Given the description of an element on the screen output the (x, y) to click on. 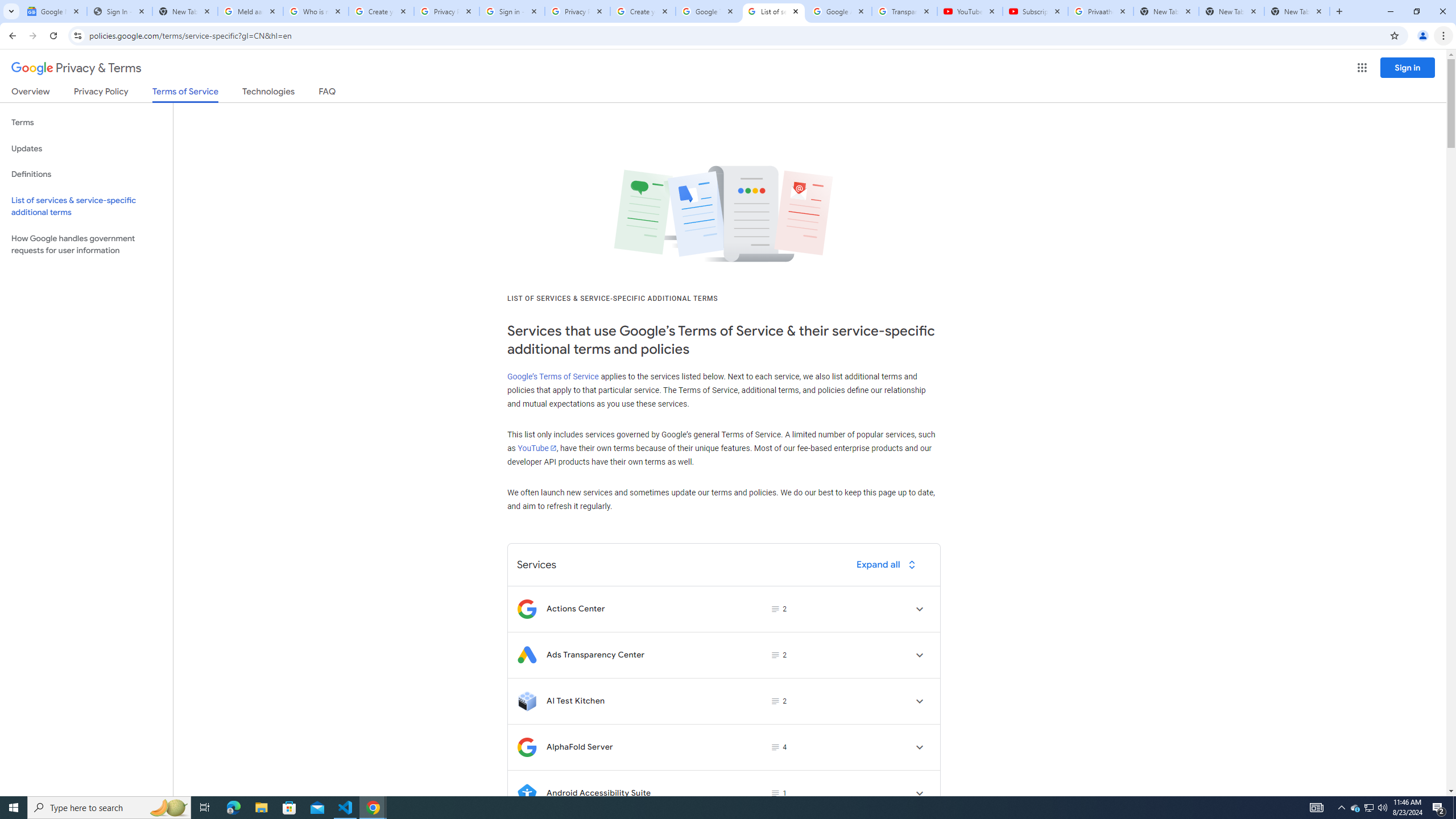
Subscriptions - YouTube (1035, 11)
Expand all (888, 564)
Create your Google Account (643, 11)
Logo for AI Test Kitchen (526, 700)
